Given the description of an element on the screen output the (x, y) to click on. 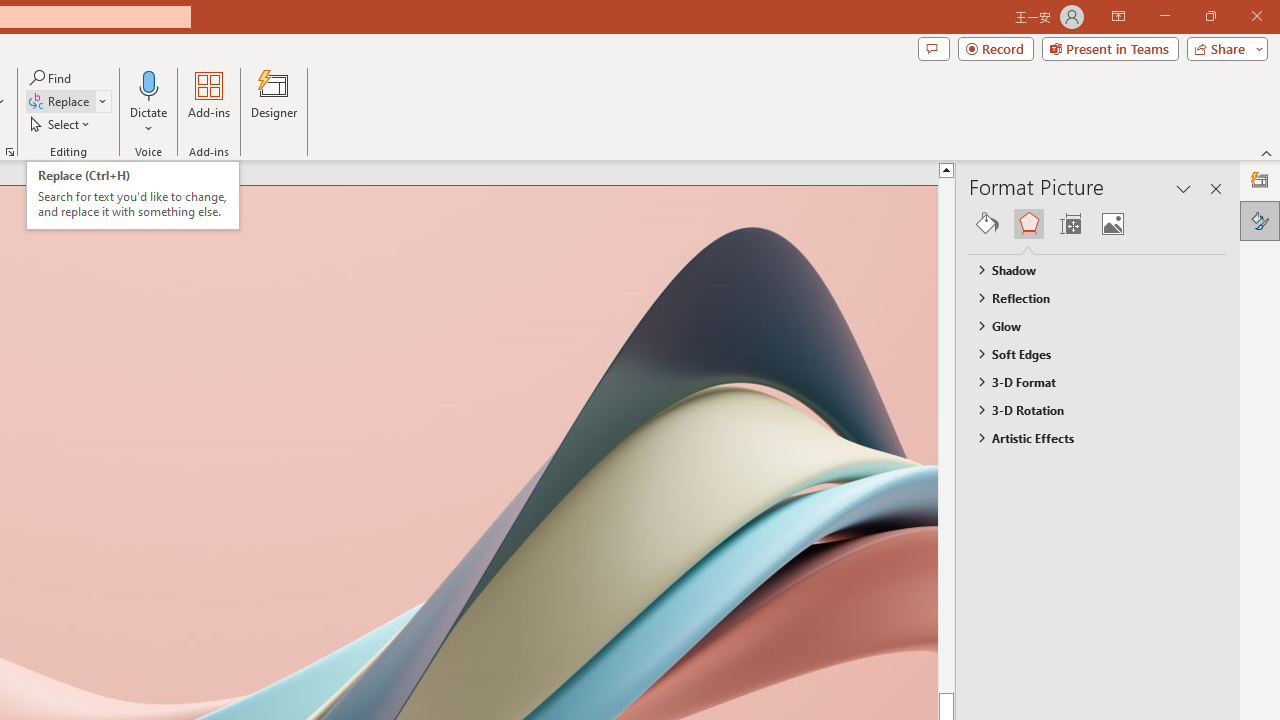
Ribbon Display Options (1118, 16)
Minimize (1164, 16)
Format Picture (1260, 220)
Reflection (1088, 297)
Close (1256, 16)
Find... (51, 78)
Class: NetUIImage (980, 437)
Artistic Effects (1088, 438)
Page up (983, 434)
Designer (1260, 180)
Designer (274, 102)
Dictate (149, 102)
Present in Teams (1109, 48)
Class: NetUIGalleryContainer (1098, 223)
